Given the description of an element on the screen output the (x, y) to click on. 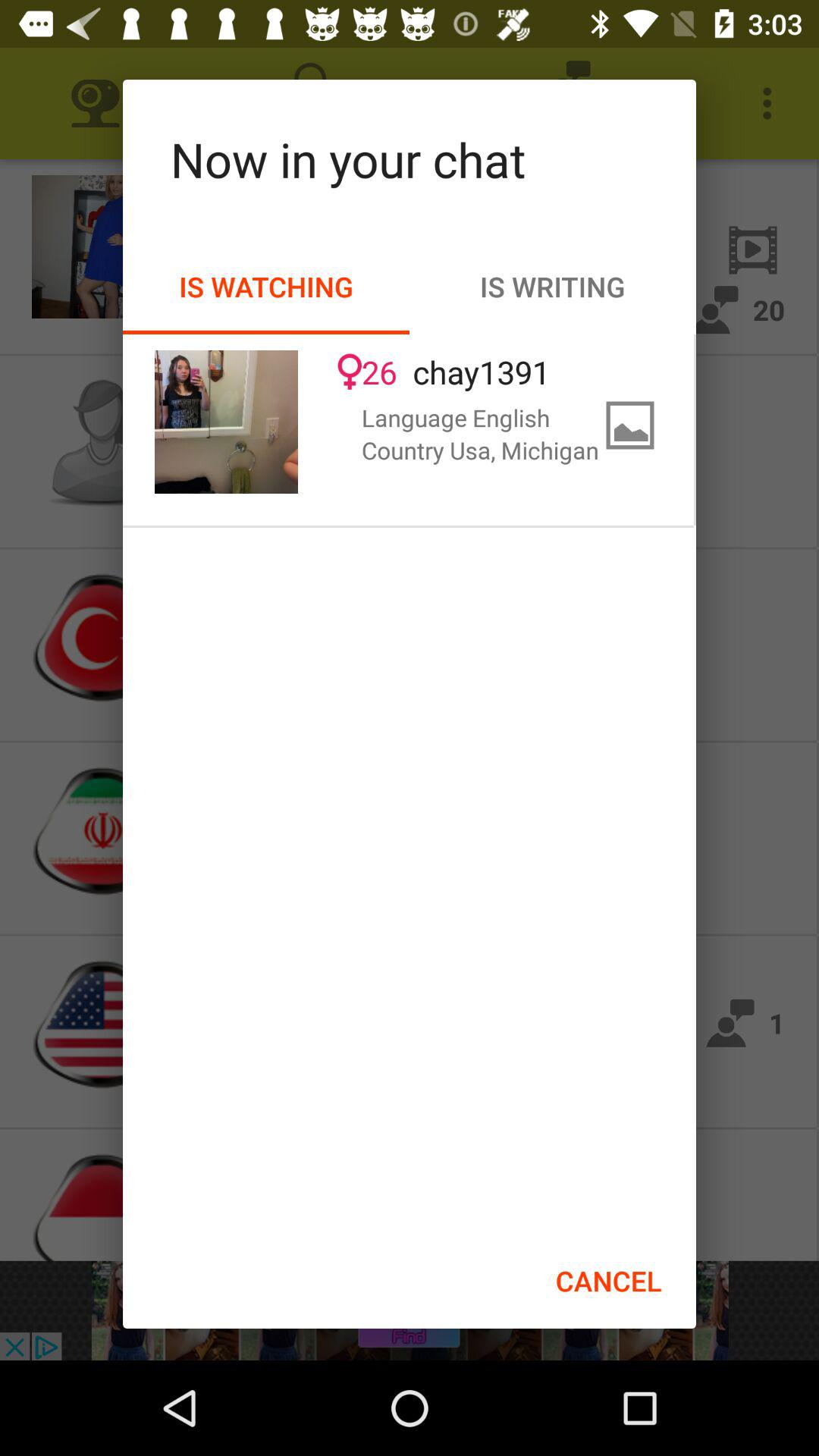
click the icon at the bottom right corner (608, 1280)
